Given the description of an element on the screen output the (x, y) to click on. 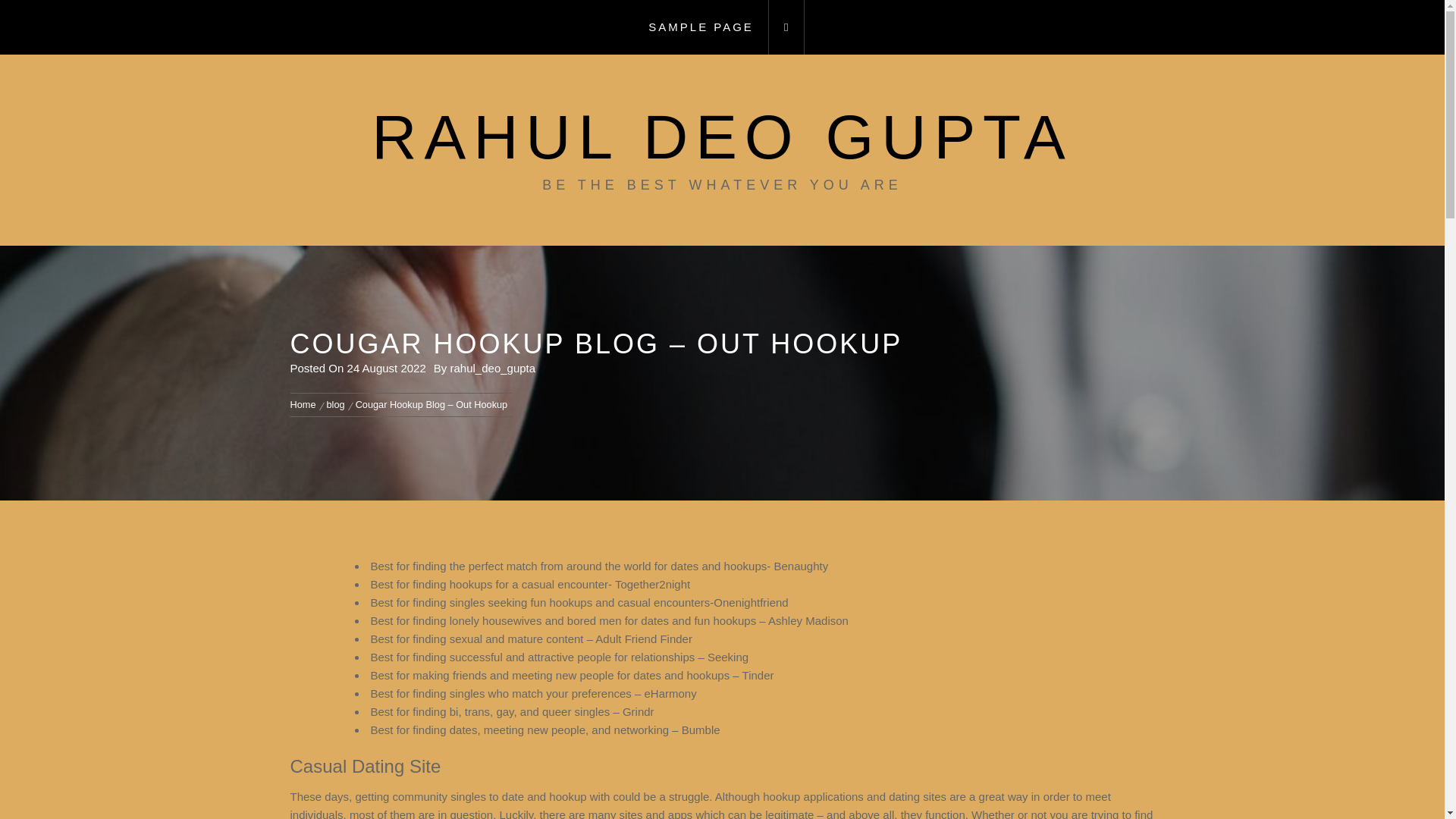
Home (304, 404)
Search (797, 408)
SAMPLE PAGE (701, 27)
blog (335, 404)
24 August 2022 (386, 367)
RAHUL DEO GUPTA (722, 136)
